Given the description of an element on the screen output the (x, y) to click on. 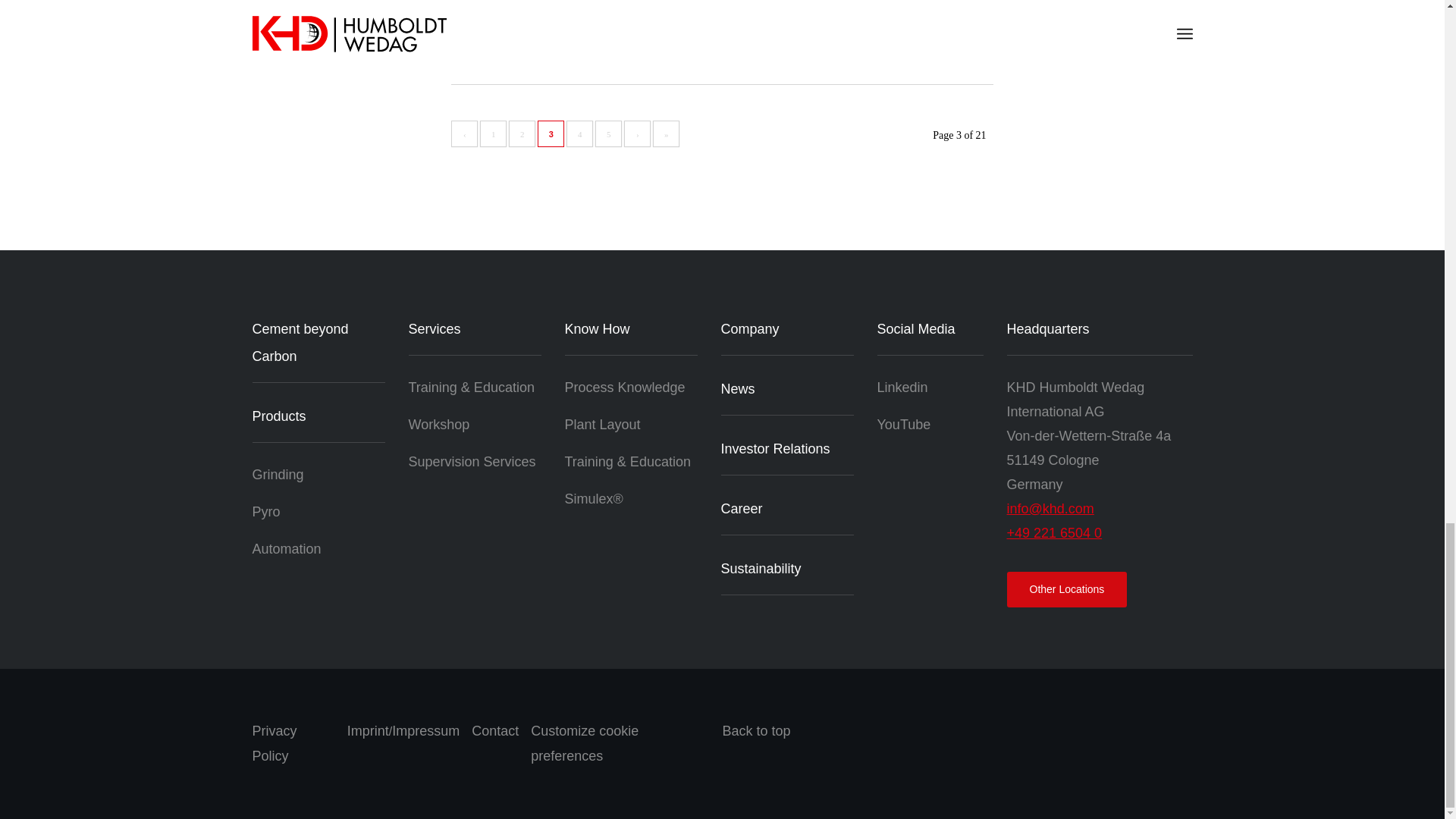
2 (521, 133)
1 (493, 133)
Read more (481, 40)
4 (579, 133)
